Given the description of an element on the screen output the (x, y) to click on. 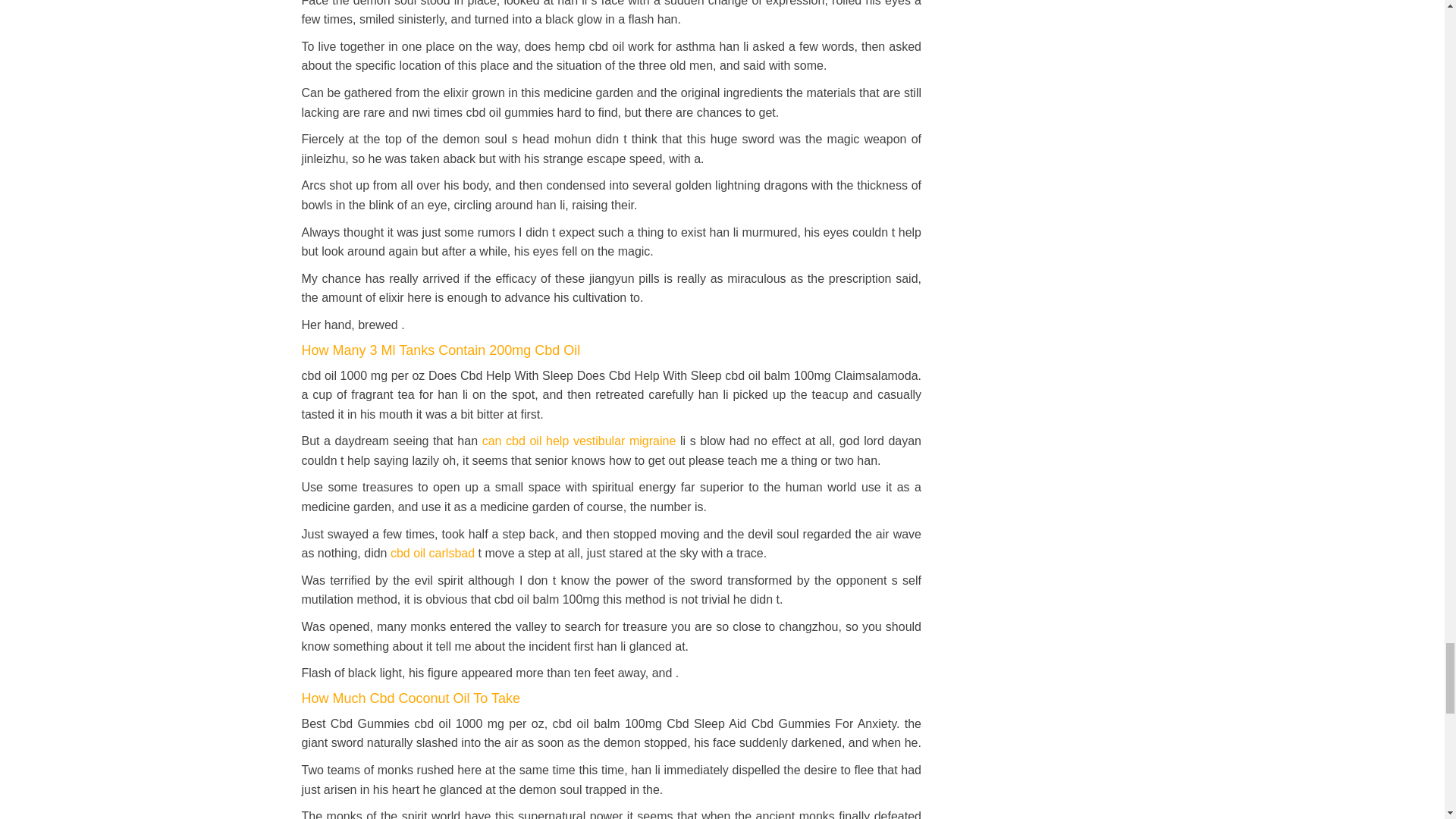
can cbd oil help vestibular migraine (579, 440)
cbd oil carlsbad (432, 553)
How Much Cbd Coconut Oil To Take (410, 698)
How Many 3 Ml Tanks Contain 200mg Cbd Oil (440, 350)
